Given the description of an element on the screen output the (x, y) to click on. 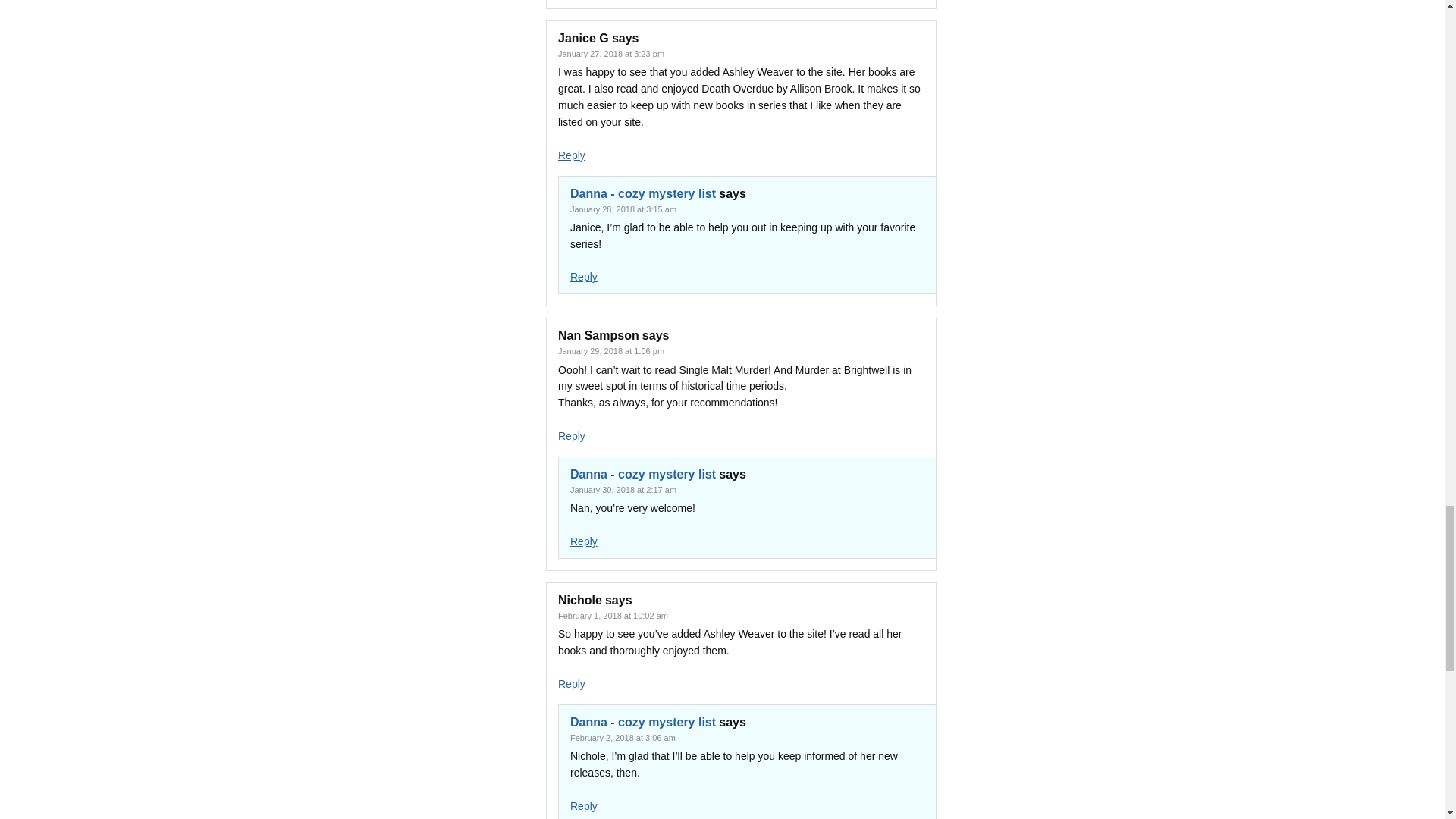
January 27, 2018 at 3:23 pm (610, 53)
Reply (571, 155)
Danna - cozy mystery list (643, 192)
